Given the description of an element on the screen output the (x, y) to click on. 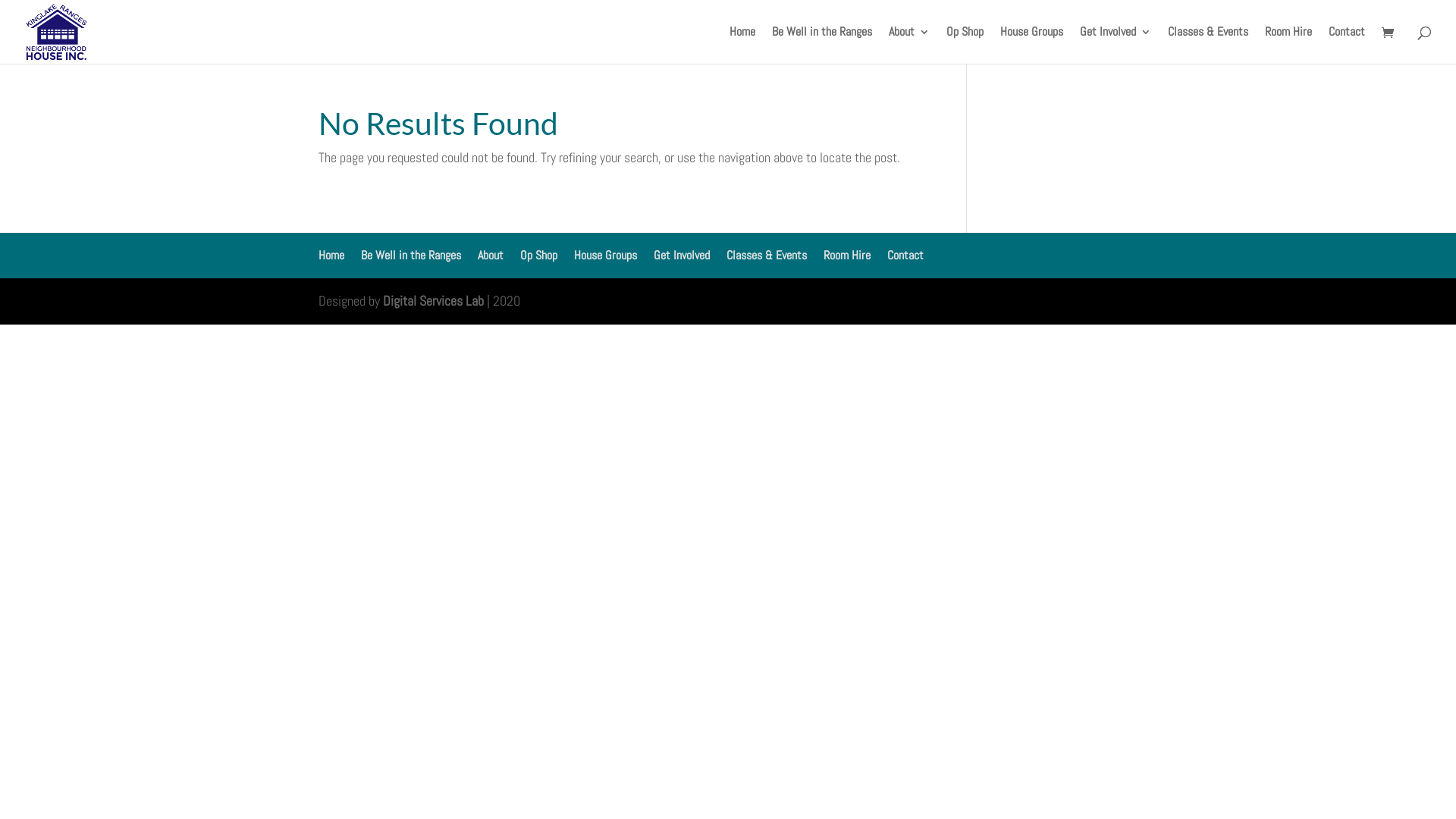
Home Element type: text (742, 44)
Op Shop Element type: text (538, 255)
Get Involved Element type: text (1115, 44)
Digital Services Lab Element type: text (432, 300)
About Element type: text (908, 44)
Be Well in the Ranges Element type: text (410, 255)
House Groups Element type: text (1031, 44)
Get Involved Element type: text (681, 255)
Home Element type: text (331, 255)
Contact Element type: text (1346, 44)
About Element type: text (490, 255)
House Groups Element type: text (605, 255)
Room Hire Element type: text (1287, 44)
Op Shop Element type: text (964, 44)
Be Well in the Ranges Element type: text (821, 44)
Classes & Events Element type: text (1207, 44)
Room Hire Element type: text (846, 255)
Contact Element type: text (905, 255)
Classes & Events Element type: text (766, 255)
